Given the description of an element on the screen output the (x, y) to click on. 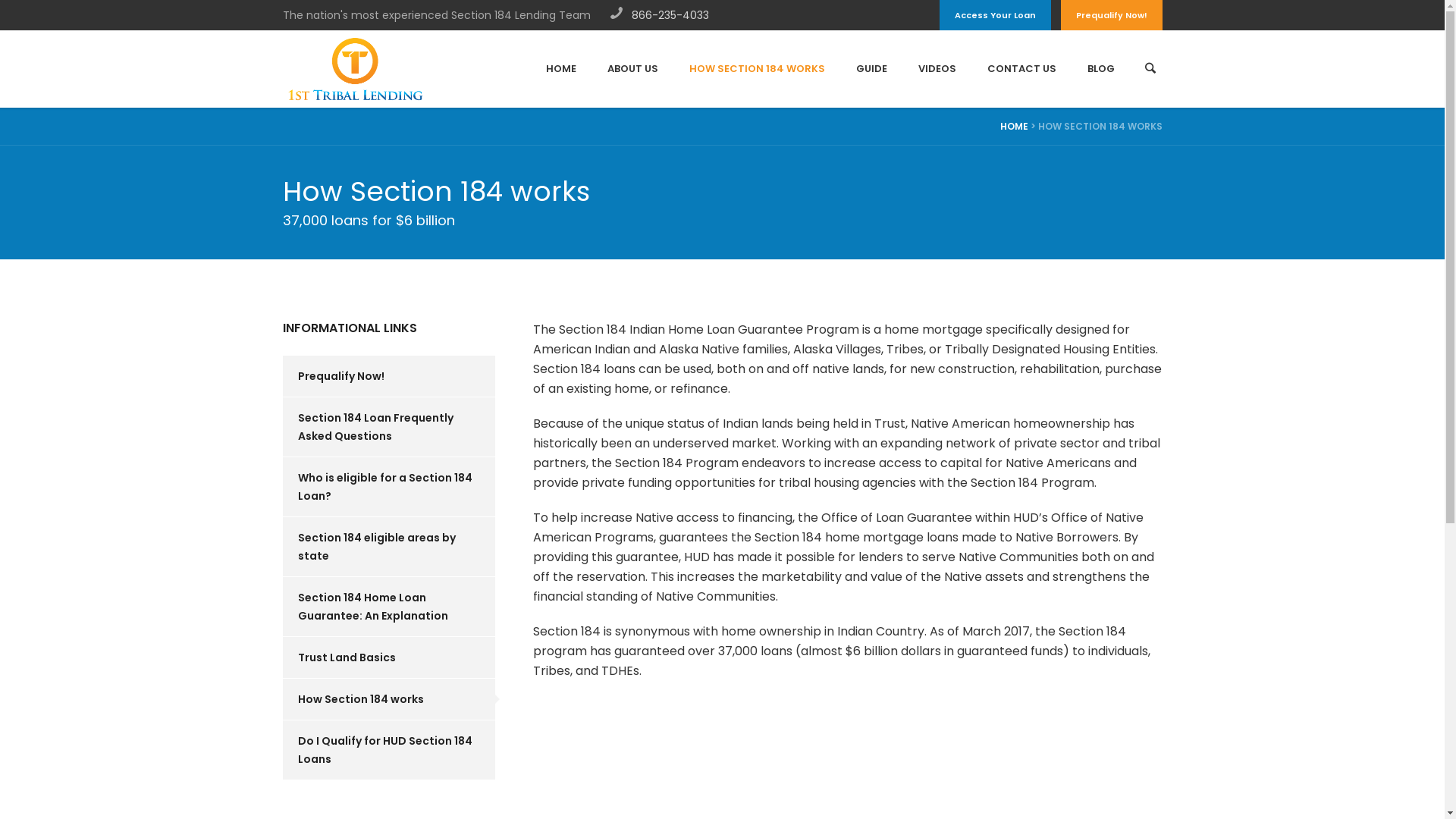
Access Your Loan Element type: text (994, 15)
866-235-4033 Element type: text (669, 14)
Section 184 Home Loan Guarantee: An Explanation Element type: text (388, 606)
GUIDE Element type: text (870, 68)
ABOUT US Element type: text (631, 68)
HOME Element type: text (1013, 125)
Prequalify Now! Element type: text (1110, 15)
Do I Qualify for HUD Section 184 Loans Element type: text (388, 749)
VIDEOS Element type: text (936, 68)
Section 184 Loan Frequently Asked Questions Element type: text (388, 426)
HOW SECTION 184 WORKS Element type: text (756, 68)
Trust Land Basics Element type: text (388, 657)
How Section 184 works Element type: text (388, 698)
CONTACT US Element type: text (1021, 68)
Who is eligible for a Section 184 Loan? Element type: text (388, 486)
HOME Element type: text (560, 68)
Prequalify Now! Element type: text (388, 375)
Section 184 eligible areas by state Element type: text (388, 546)
BLOG Element type: text (1100, 68)
